Given the description of an element on the screen output the (x, y) to click on. 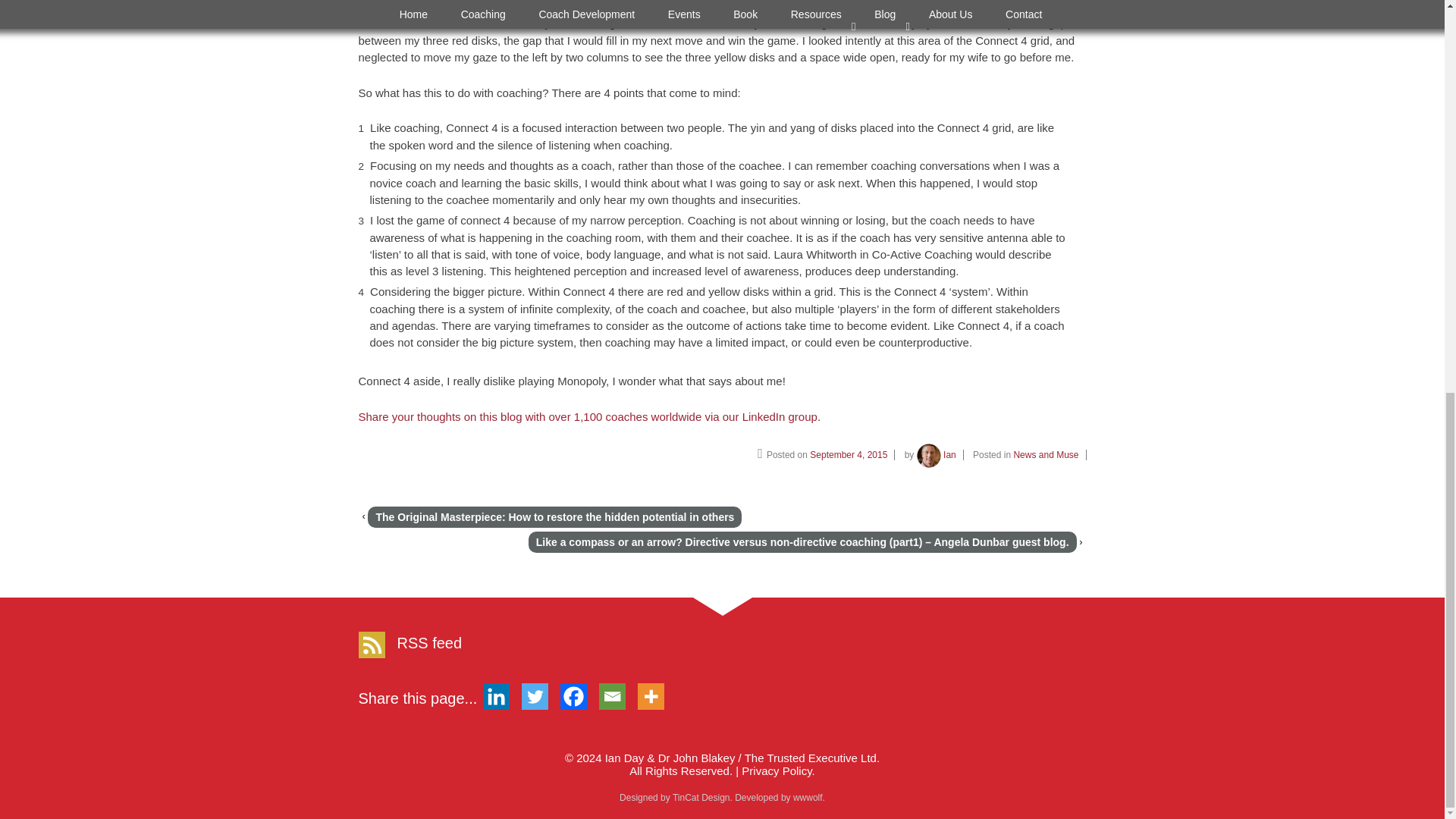
Twitter (534, 696)
TinCat Design (701, 797)
View all posts by Ian (936, 454)
News and Muse (1045, 454)
Email (612, 696)
Facebook (573, 696)
wwwolf (807, 797)
Privacy Policy (775, 770)
Challenging Coaching (727, 764)
